Given the description of an element on the screen output the (x, y) to click on. 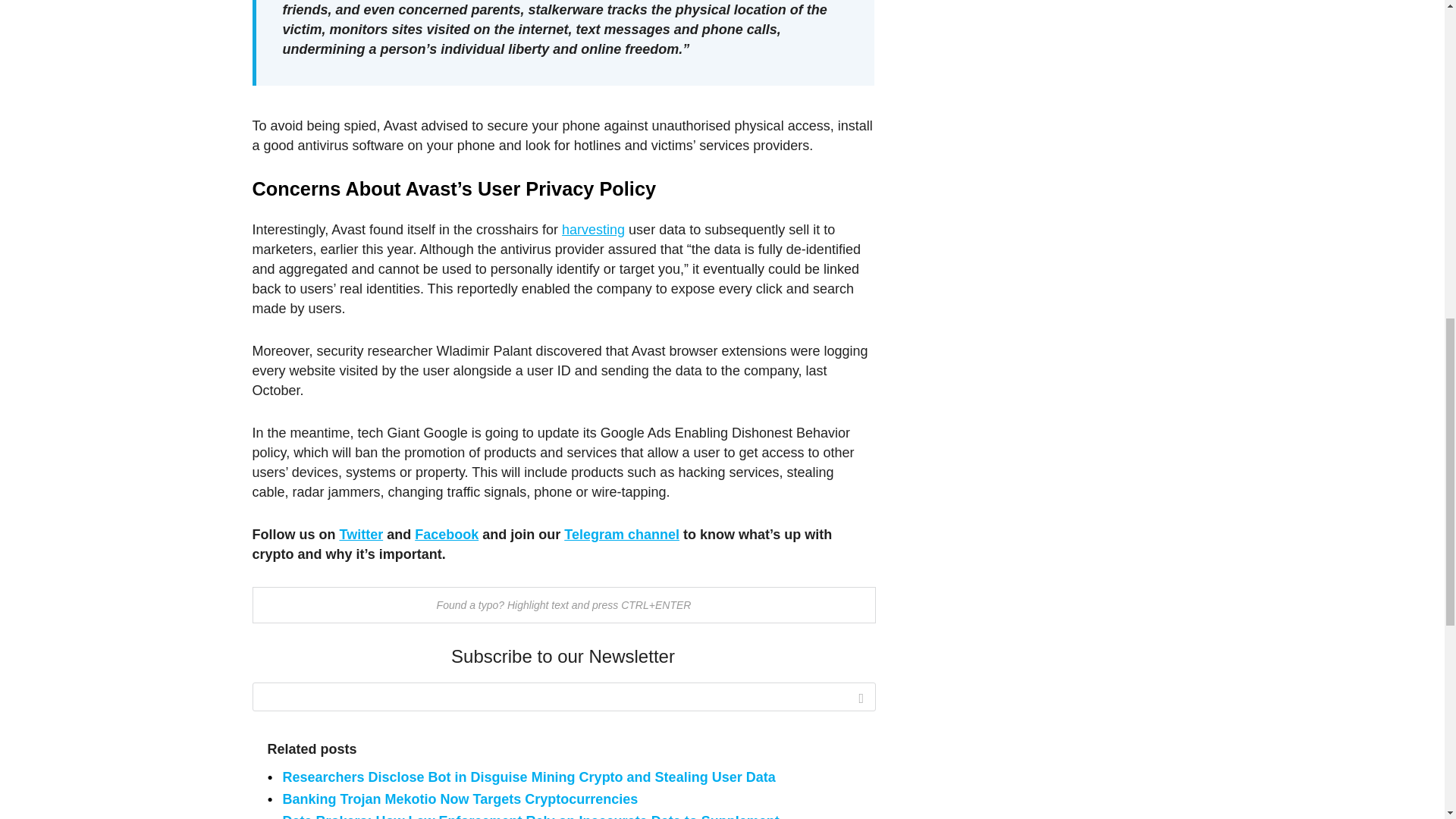
Facebook (446, 534)
Banking Trojan Mekotio Now Targets Cryptocurrencies (459, 798)
Twitter (361, 534)
Telegram channel (621, 534)
harvesting (593, 229)
Banking Trojan Mekotio Now Targets Cryptocurrencies (459, 798)
